Given the description of an element on the screen output the (x, y) to click on. 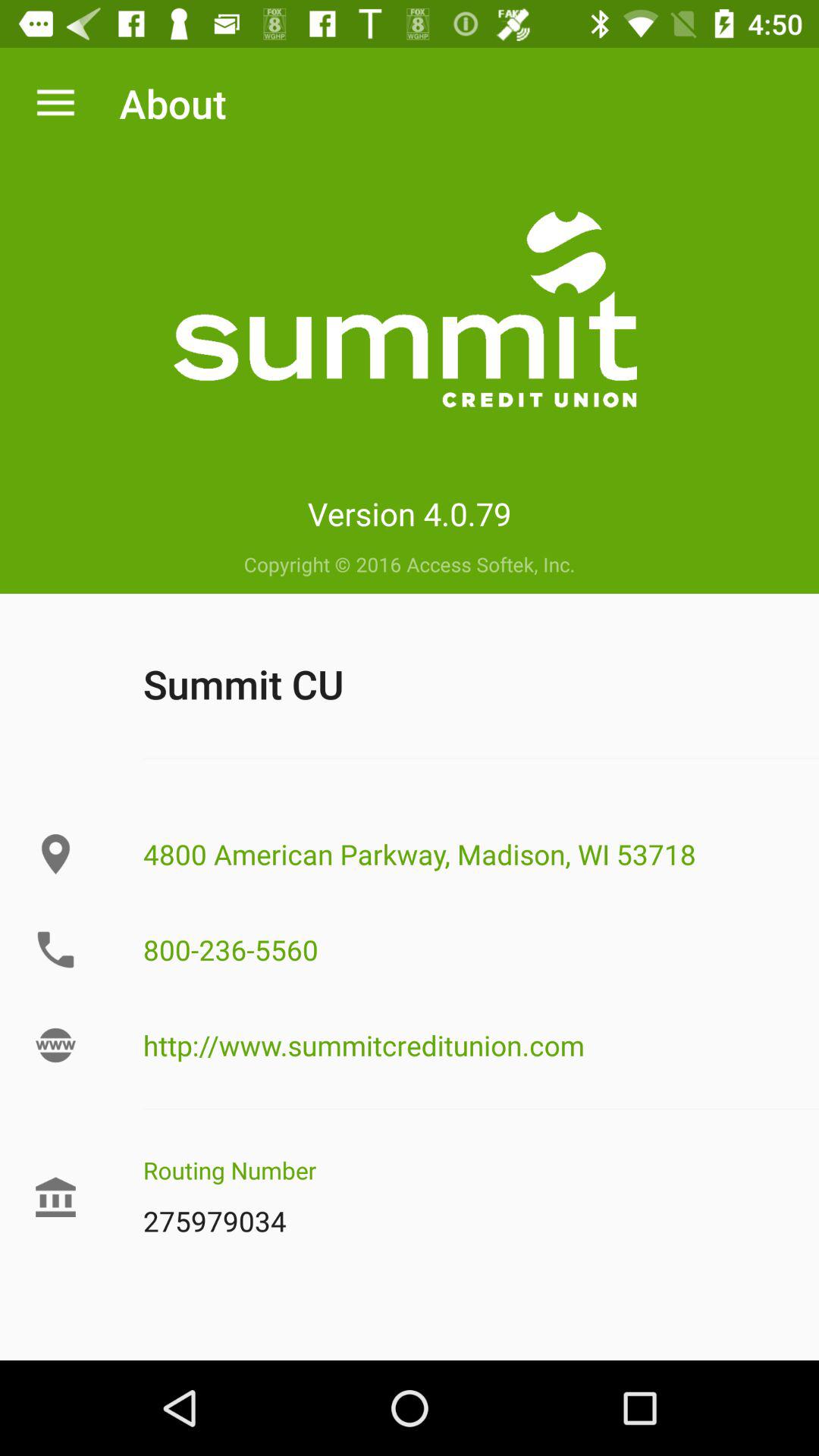
open icon next to the about icon (55, 103)
